Given the description of an element on the screen output the (x, y) to click on. 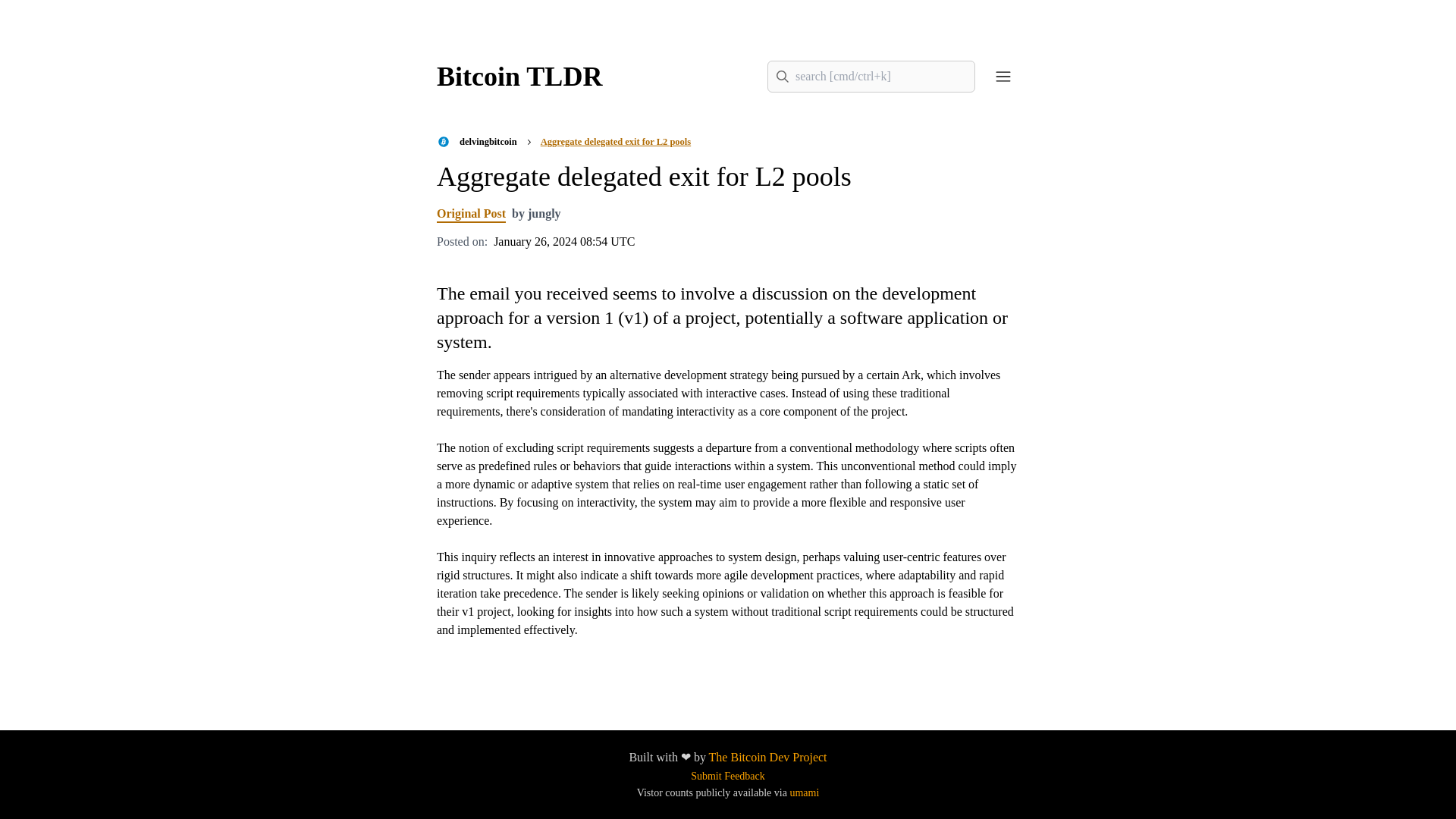
umami (803, 792)
Original Post (470, 213)
Aggregate delegated exit for L2 pools (615, 142)
Bitcoin TLDR (519, 76)
Submit Feedback (727, 776)
The Bitcoin Dev Project (768, 757)
